Given the description of an element on the screen output the (x, y) to click on. 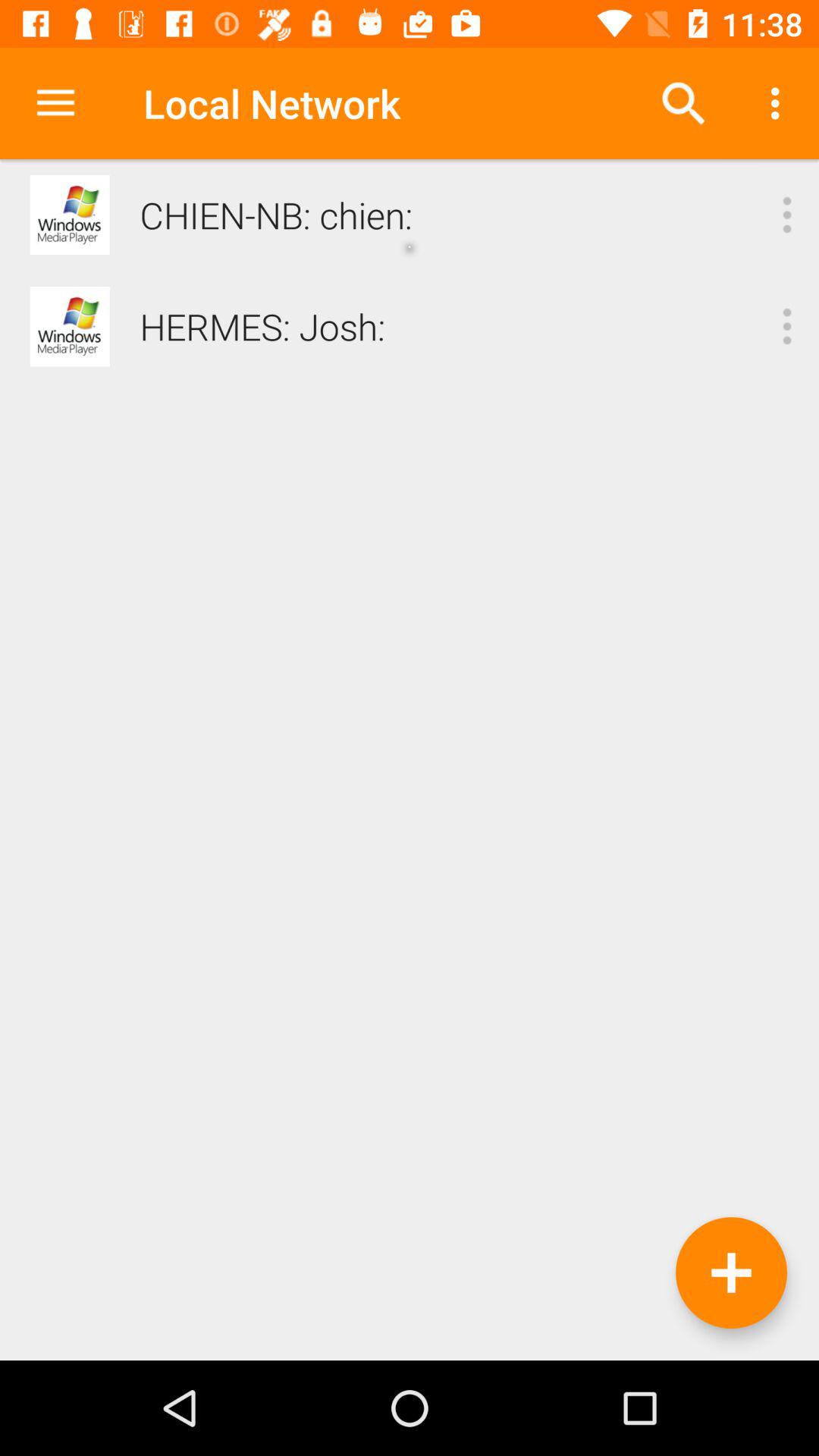
choose app to the right of local network (683, 103)
